Given the description of an element on the screen output the (x, y) to click on. 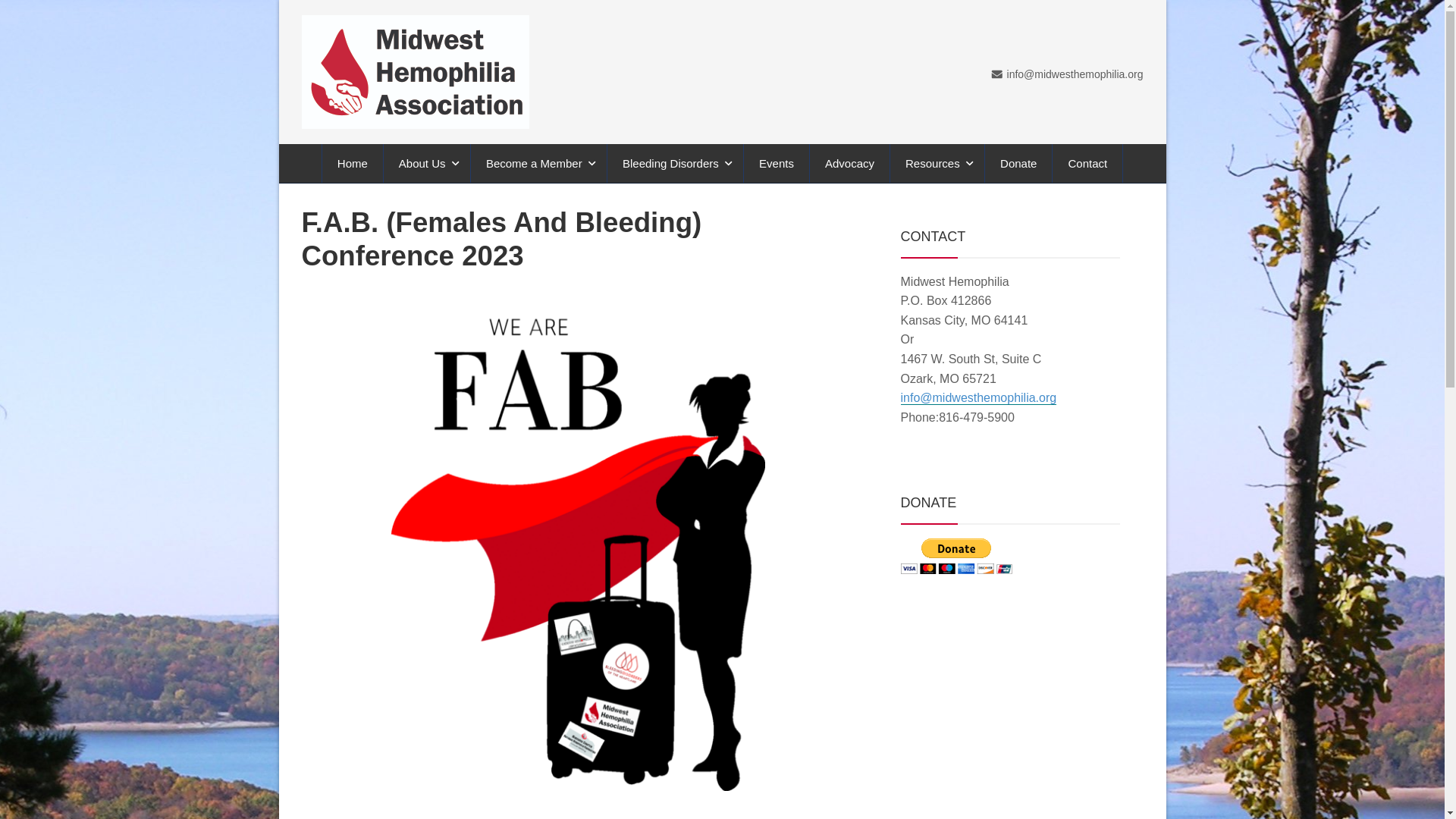
Events (776, 163)
Contact (1087, 163)
Donate (1018, 163)
Become a Member (538, 163)
Resources (936, 163)
About Us (427, 163)
Home (351, 163)
Advocacy (849, 163)
Bleeding Disorders (674, 163)
Midwest Hemophilia (415, 71)
